Given the description of an element on the screen output the (x, y) to click on. 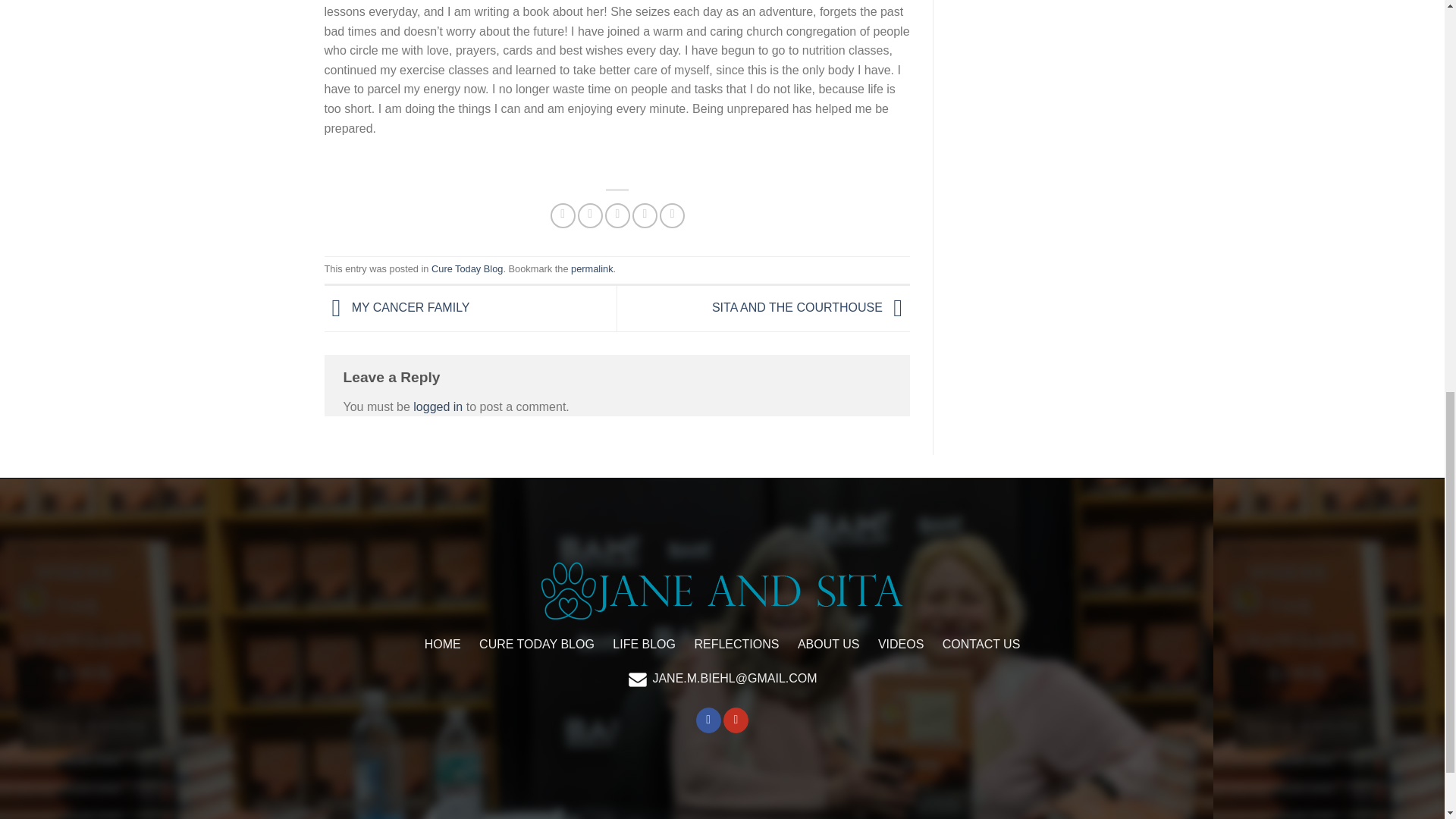
Share on Twitter (590, 215)
Pin on Pinterest (644, 215)
Email to a Friend (617, 215)
Share on Facebook (562, 215)
Permalink to WHAT NOBODY TOLD ME ABOUT CANCER (591, 268)
Share on LinkedIn (671, 215)
